Given the description of an element on the screen output the (x, y) to click on. 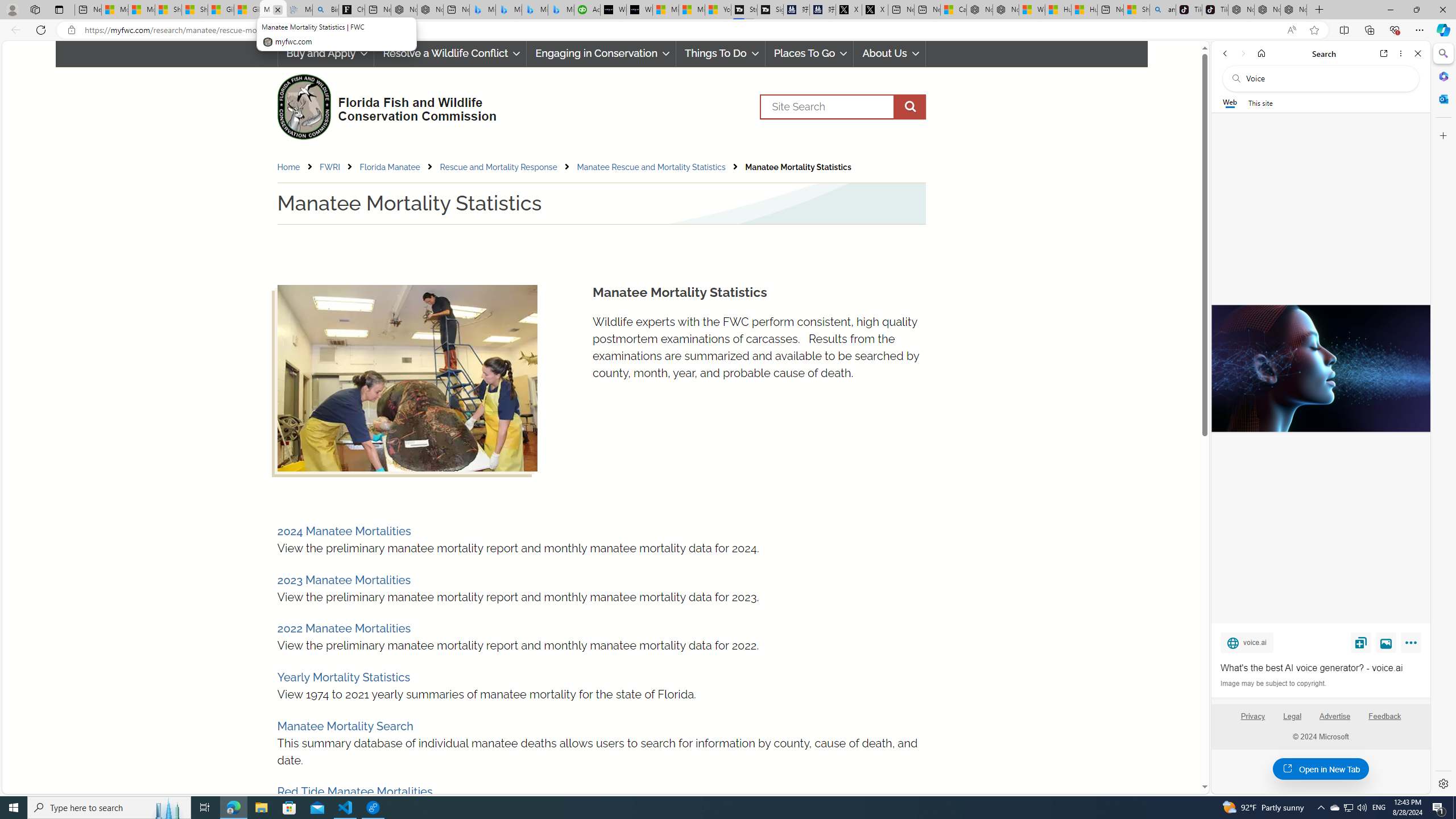
About Us (889, 53)
execute site search (909, 106)
Copilot (Ctrl+Shift+.) (1442, 29)
Image may be subject to copyright. (1273, 682)
Settings (1442, 783)
Nordace - #1 Japanese Best-Seller - Siena Smart Backpack (430, 9)
Microsoft Start Sports (665, 9)
Personal Profile (12, 9)
New Tab (1319, 9)
Feedback (1384, 715)
Chloe Sorvino (351, 9)
FWC Logo (303, 106)
Save (1361, 642)
